Given the description of an element on the screen output the (x, y) to click on. 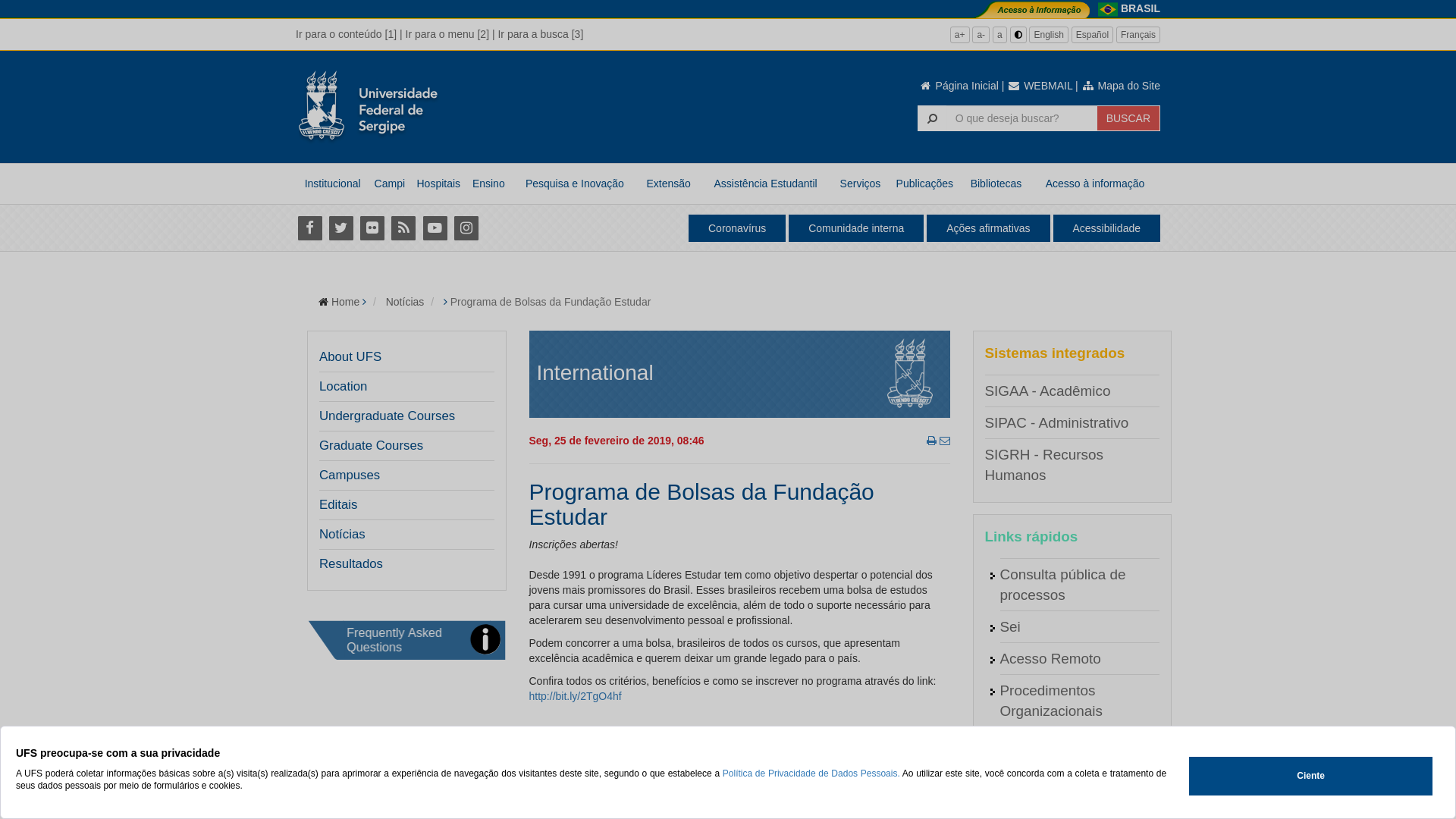
Institucional Element type: text (332, 183)
Facebook Element type: text (309, 227)
Hospitais Element type: text (438, 183)
PDI 2021-2025 Element type: text (1047, 742)
Flickr Element type: text (371, 227)
BUSCAR Element type: text (1128, 118)
Location Element type: text (343, 386)
a- Element type: text (980, 34)
RSS Element type: text (403, 227)
Campuses Element type: text (349, 475)
Acessibilidade Element type: text (1106, 227)
Editais Element type: text (338, 504)
WEBMAIL Element type: text (1039, 85)
Twitter Element type: text (340, 227)
Resultados Element type: text (350, 563)
Youtube Element type: text (434, 227)
SIPAC - Administrativo Element type: text (1056, 422)
BRASIL Element type: text (1140, 8)
Ir para o menu [2] Element type: text (447, 34)
Agenda do Reitor Element type: text (1054, 774)
Campi Element type: text (389, 183)
Ensino Element type: text (488, 183)
Agenda do Vice-Reitor Element type: text (1071, 806)
a Element type: text (999, 34)
SIGRH - Recursos Humanos Element type: text (1043, 464)
About UFS Element type: text (350, 356)
Procedimentos Organizacionais Element type: text (1050, 700)
English Element type: text (1048, 34)
Bibliotecas Element type: text (995, 183)
http://bit.ly/2TgO4hf Element type: text (575, 696)
Comunidade interna Element type: text (855, 227)
Acesso Remoto Element type: text (1049, 658)
Home Element type: text (345, 301)
Graduate Courses Element type: text (371, 445)
Undergraduate Courses Element type: text (387, 415)
Ir para a busca [3] Element type: text (540, 34)
Instagram Element type: text (465, 227)
Sei Element type: text (1009, 626)
a+ Element type: text (959, 34)
Mapa do Site Element type: text (1120, 85)
